Given the description of an element on the screen output the (x, y) to click on. 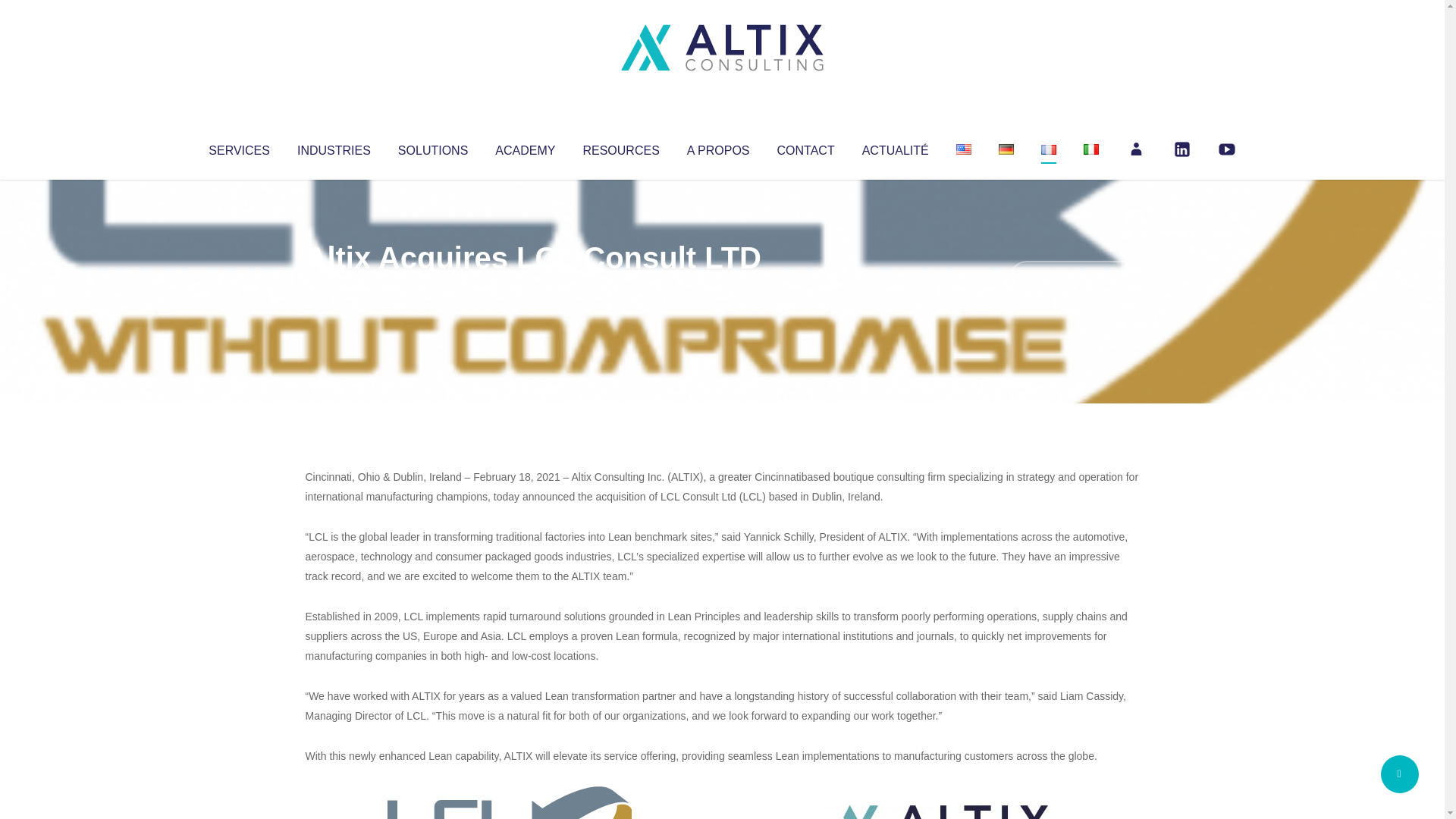
Articles par Altix (333, 287)
A PROPOS (718, 146)
No Comments (1073, 278)
SOLUTIONS (432, 146)
RESOURCES (620, 146)
Uncategorized (530, 287)
Altix (333, 287)
SERVICES (238, 146)
ACADEMY (524, 146)
INDUSTRIES (334, 146)
